Given the description of an element on the screen output the (x, y) to click on. 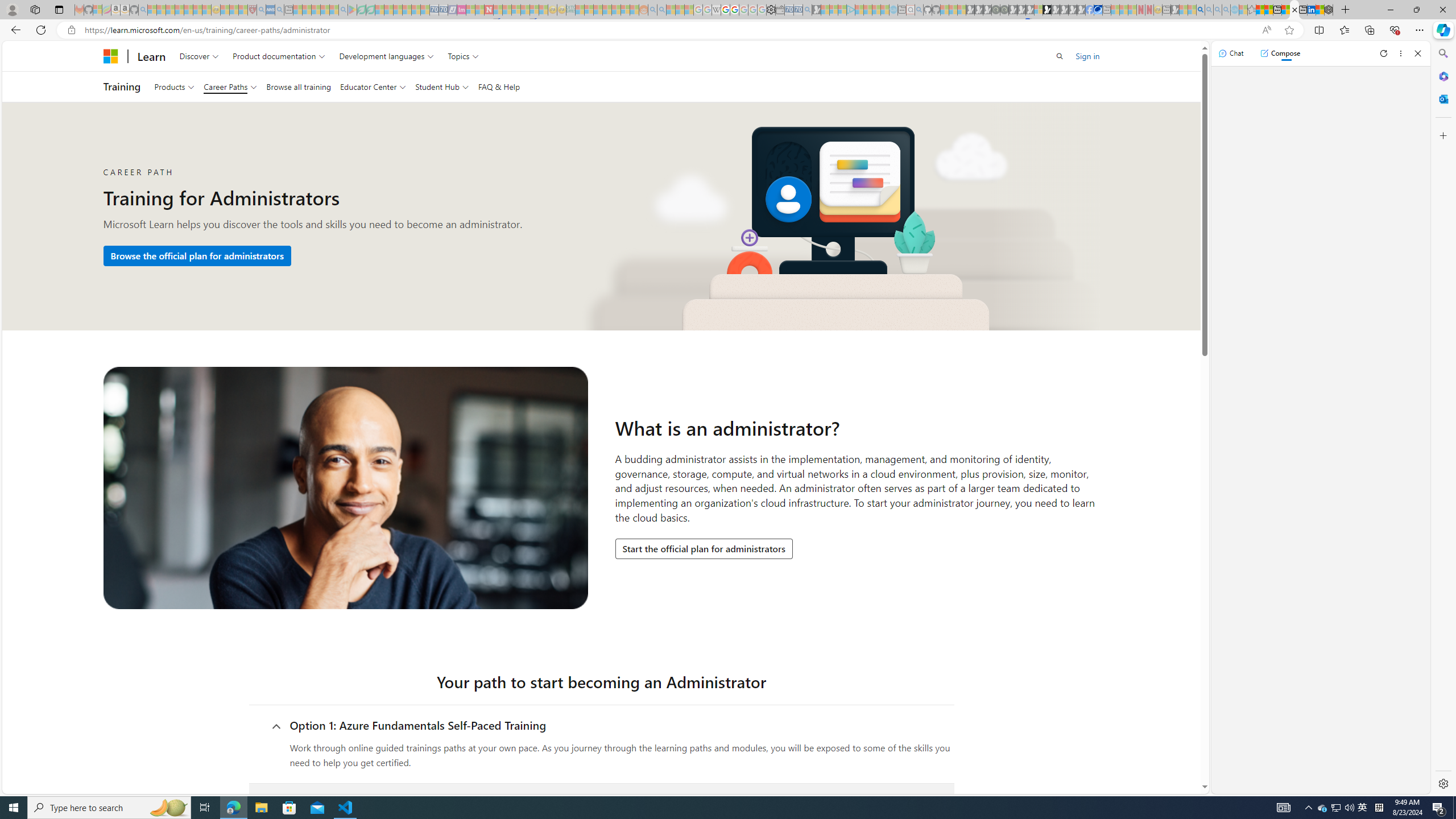
Kinda Frugal - MSN - Sleeping (616, 9)
Utah sues federal government - Search - Sleeping (661, 9)
Topics (462, 55)
Career Paths (230, 86)
